Given the description of an element on the screen output the (x, y) to click on. 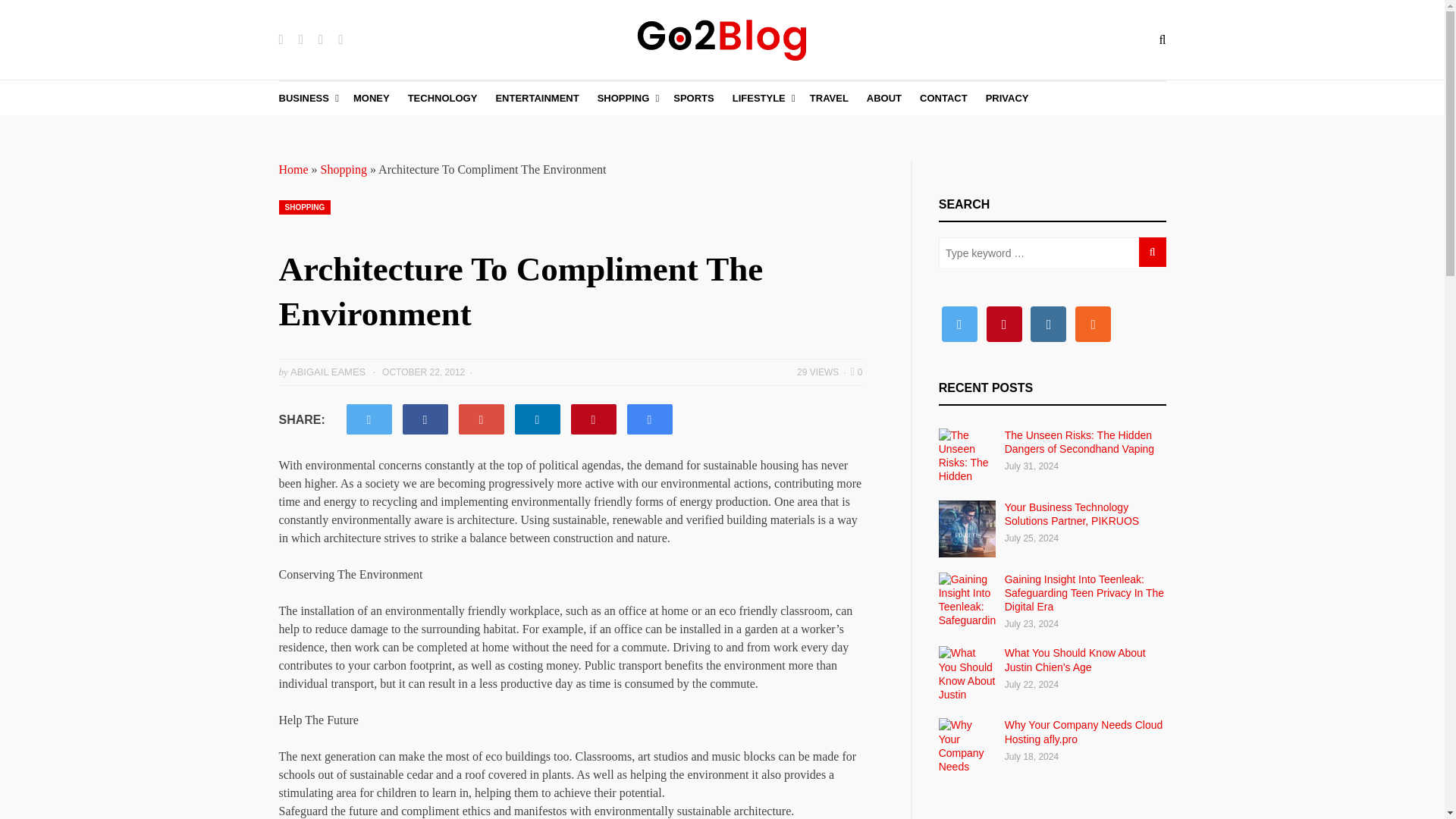
CONTACT (944, 98)
SHOPPING (305, 206)
Like this (856, 371)
ABIGAIL EAMES (327, 371)
MONEY (371, 98)
PRIVACY (1007, 98)
LIFESTYLE (762, 98)
TECHNOLOGY (442, 98)
ABOUT (883, 98)
Search for: (1052, 253)
BUSINESS (306, 98)
0 (856, 371)
SHOPPING (626, 98)
ENTERTAINMENT (536, 98)
TRAVEL (828, 98)
